Given the description of an element on the screen output the (x, y) to click on. 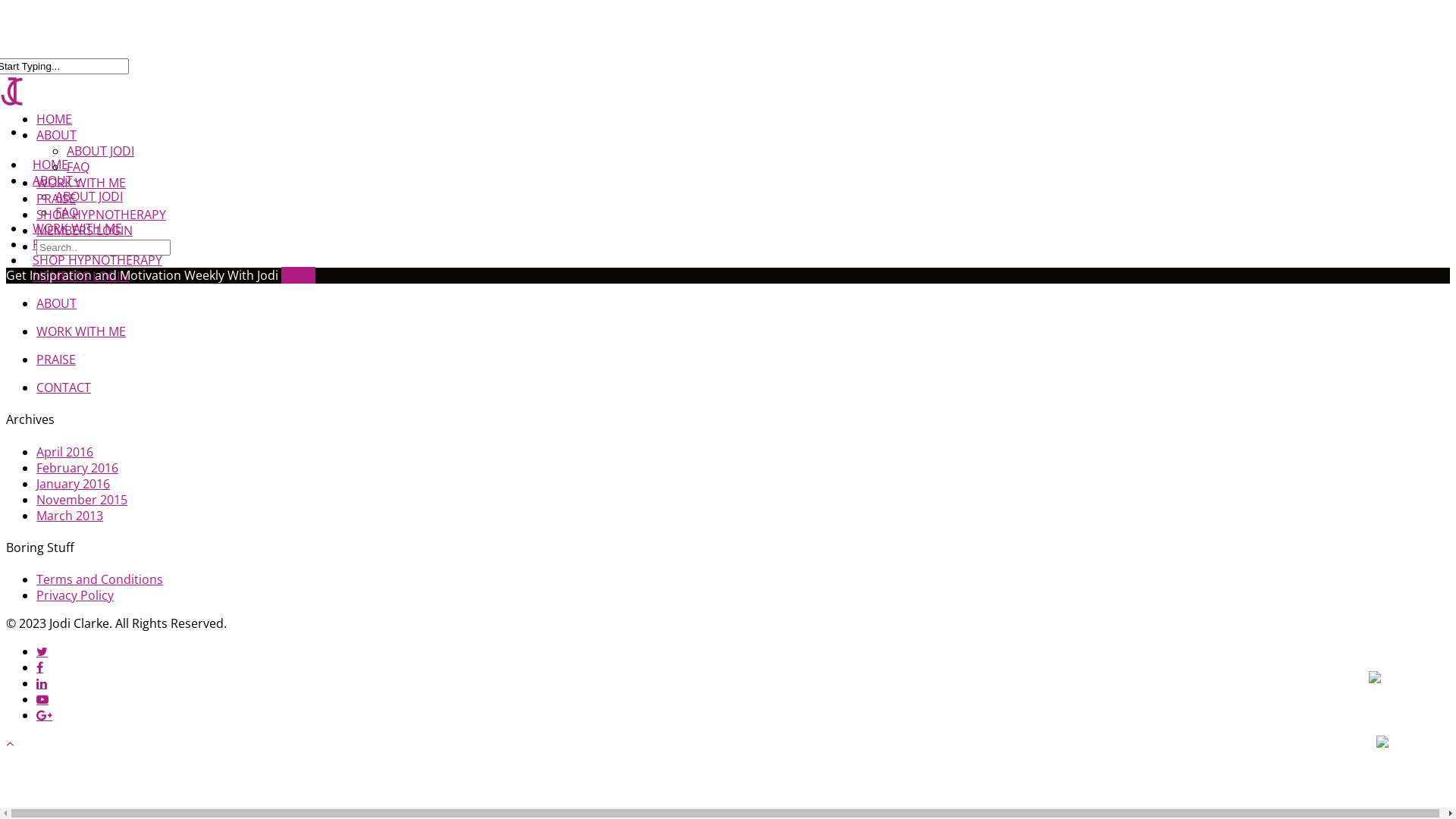
March 2013 Element type: text (69, 515)
MEMBERS LOGIN Element type: text (84, 230)
November 2015 Element type: text (81, 499)
Privacy Policy Element type: text (74, 594)
February 2016 Element type: text (77, 467)
PRAISE Element type: text (55, 198)
HOME Element type: text (54, 118)
SHOP HYPNOTHERAPY Element type: text (97, 270)
ABOUT JODI Element type: text (88, 196)
ABOUT Element type: text (56, 190)
WORK WITH ME Element type: text (80, 331)
Terms and Conditions Element type: text (99, 579)
ABOUT Element type: text (56, 134)
January 2016 Element type: text (72, 483)
ABOUT JODI Element type: text (100, 150)
PRAISE Element type: text (52, 254)
Get it! Element type: text (298, 274)
FAQ Element type: text (66, 211)
CONTACT Element type: text (63, 387)
MEMBERS LOGIN Element type: text (80, 286)
FAQ Element type: text (77, 166)
WORK WITH ME Element type: text (80, 182)
WORK WITH ME Element type: text (77, 238)
ABOUT Element type: text (56, 302)
HOME Element type: text (50, 174)
April 2016 Element type: text (64, 451)
SHOP HYPNOTHERAPY Element type: text (101, 214)
PRAISE Element type: text (55, 359)
